Given the description of an element on the screen output the (x, y) to click on. 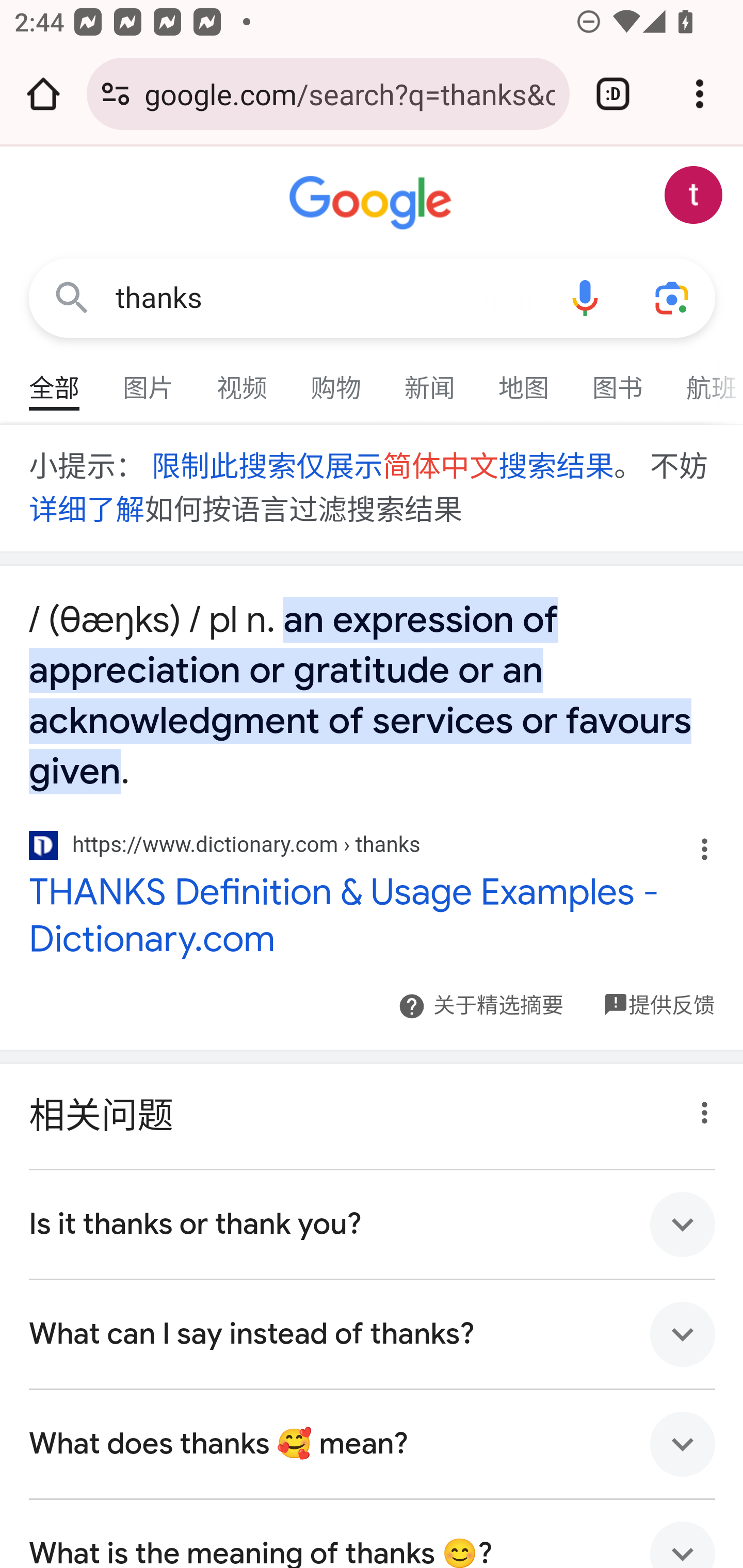
Open the home page (43, 93)
Connection is secure (115, 93)
Switch or close tabs (612, 93)
Customize and control Google Chrome (699, 93)
Google (372, 203)
Google 账号： test appium (testappium002@gmail.com) (694, 195)
Google 搜索 (71, 296)
使用拍照功能或照片进行搜索 (672, 296)
thanks (328, 297)
图片 (148, 378)
视频 (242, 378)
购物 (336, 378)
新闻 (430, 378)
地图 (524, 378)
图书 (618, 378)
航班 (703, 378)
限制此搜索仅展示简体中文搜索结果 限制此搜索仅展示 简体中文 搜索结果 (381, 467)
详细了解 (86, 509)
提供反馈 (671, 994)
关于精选摘要 (497, 1005)
关于这条结果的详细信息 (698, 1107)
Is it thanks or thank you? (372, 1224)
What can I say instead of thanks? (372, 1333)
What does thanks 🥰 mean? (372, 1443)
What is the meaning of thanks 😊? (372, 1533)
